Given the description of an element on the screen output the (x, y) to click on. 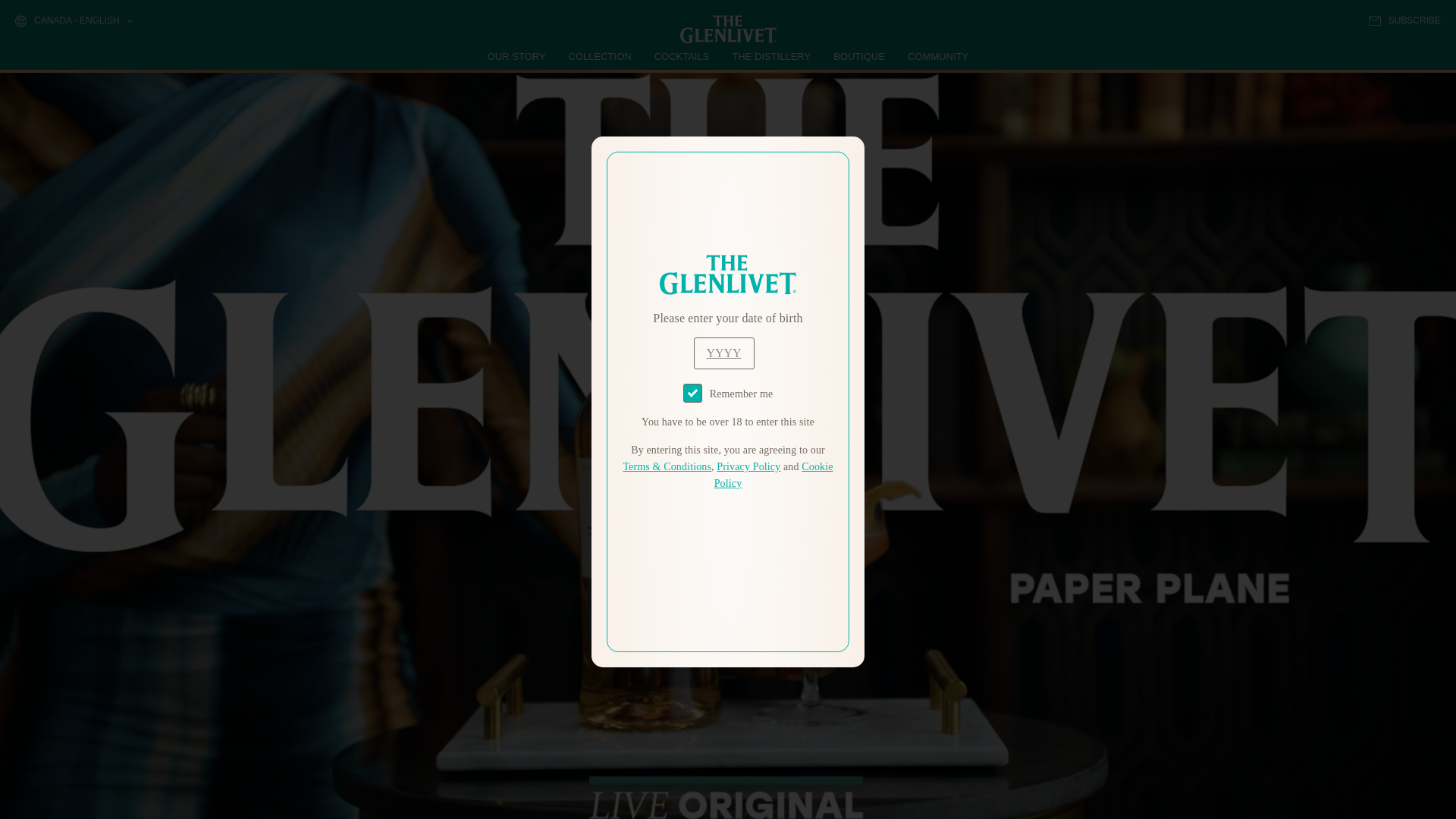
SUBSCRIBE (1404, 20)
THE DISTILLERY (771, 56)
COCKTAILS (681, 56)
BOUTIQUE (858, 56)
Privacy Policy (748, 466)
OUR STORY (516, 56)
CANADA - ENGLISH (73, 21)
COMMUNITY (937, 56)
year (723, 353)
Cookie Policy (773, 474)
